Given the description of an element on the screen output the (x, y) to click on. 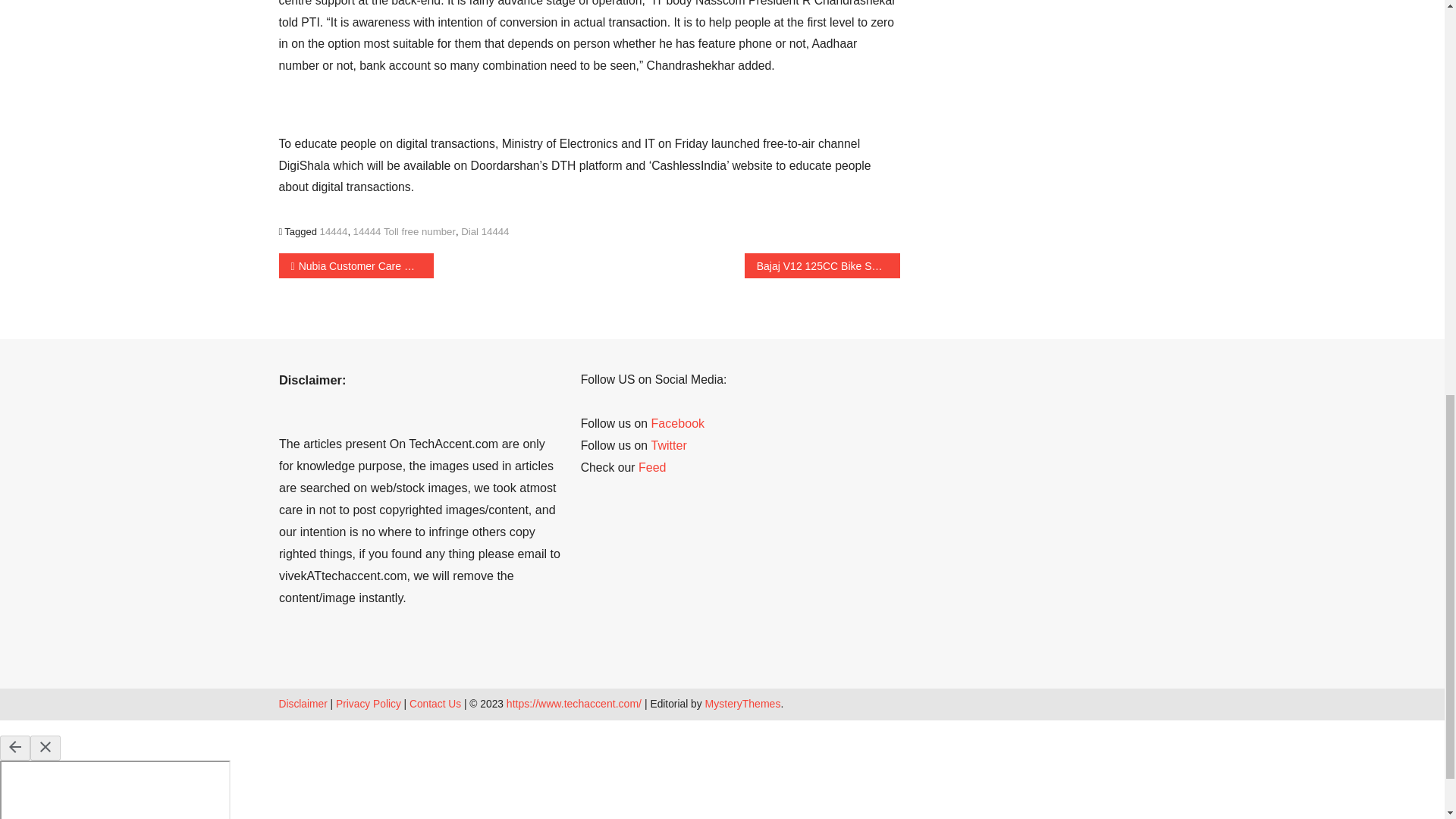
Bajaj V12 125CC Bike Specifications Price Review Mileage (821, 265)
Nubia Customer Care Number Toll Free Number (356, 265)
Dial 14444 (484, 231)
14444 Toll free number (404, 231)
14444 (333, 231)
